Given the description of an element on the screen output the (x, y) to click on. 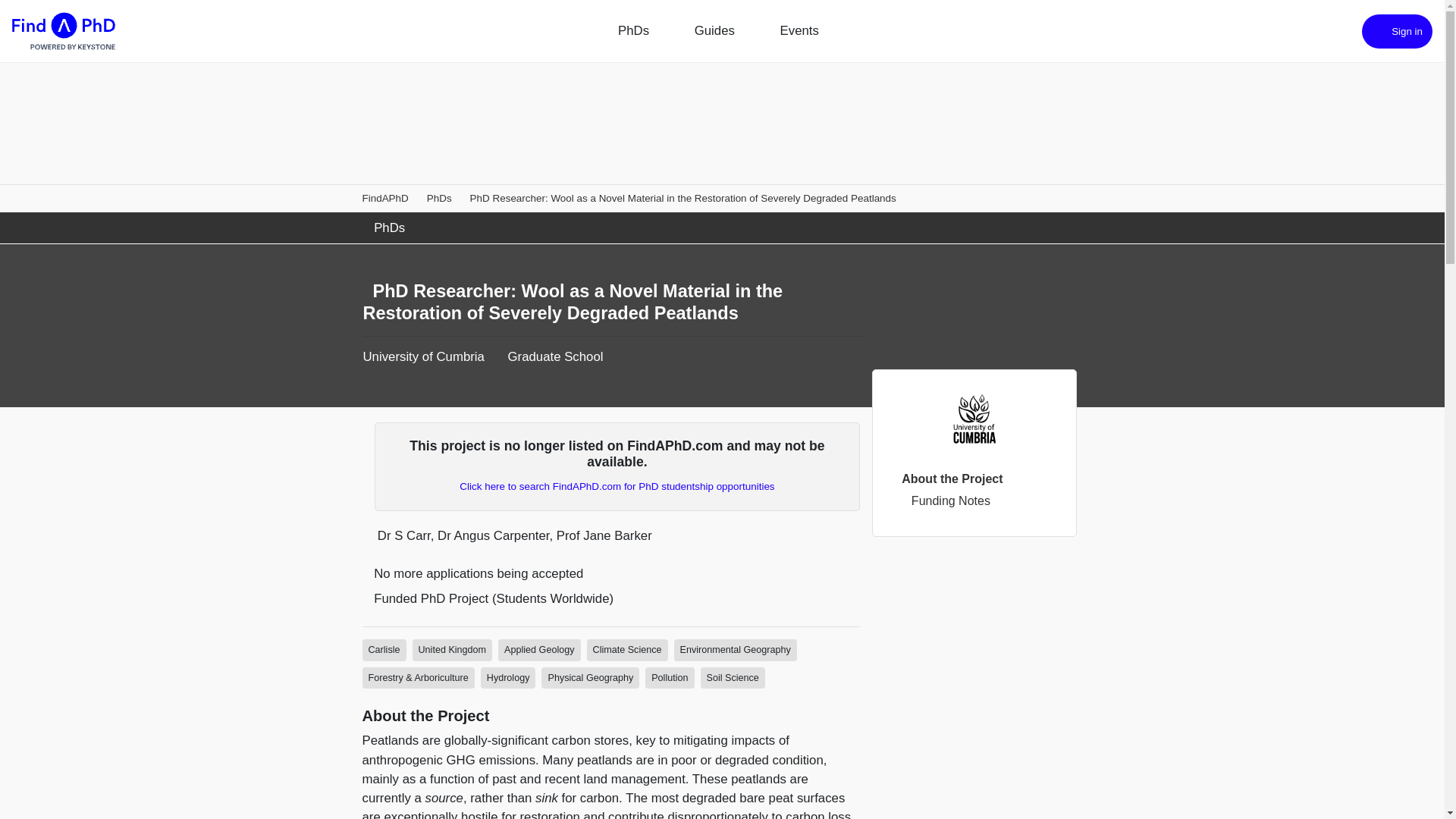
View all PhDs at University of Cumbria (422, 356)
View all PhDs at Graduate School, University of Cumbria (556, 356)
FindAPhD.com (63, 31)
Search all PhDs in Graduate School (452, 649)
Search all PhDs in Graduate School (384, 649)
FindAPhD (385, 197)
Search FindAPhD.com for PhD projects (617, 486)
